Given the description of an element on the screen output the (x, y) to click on. 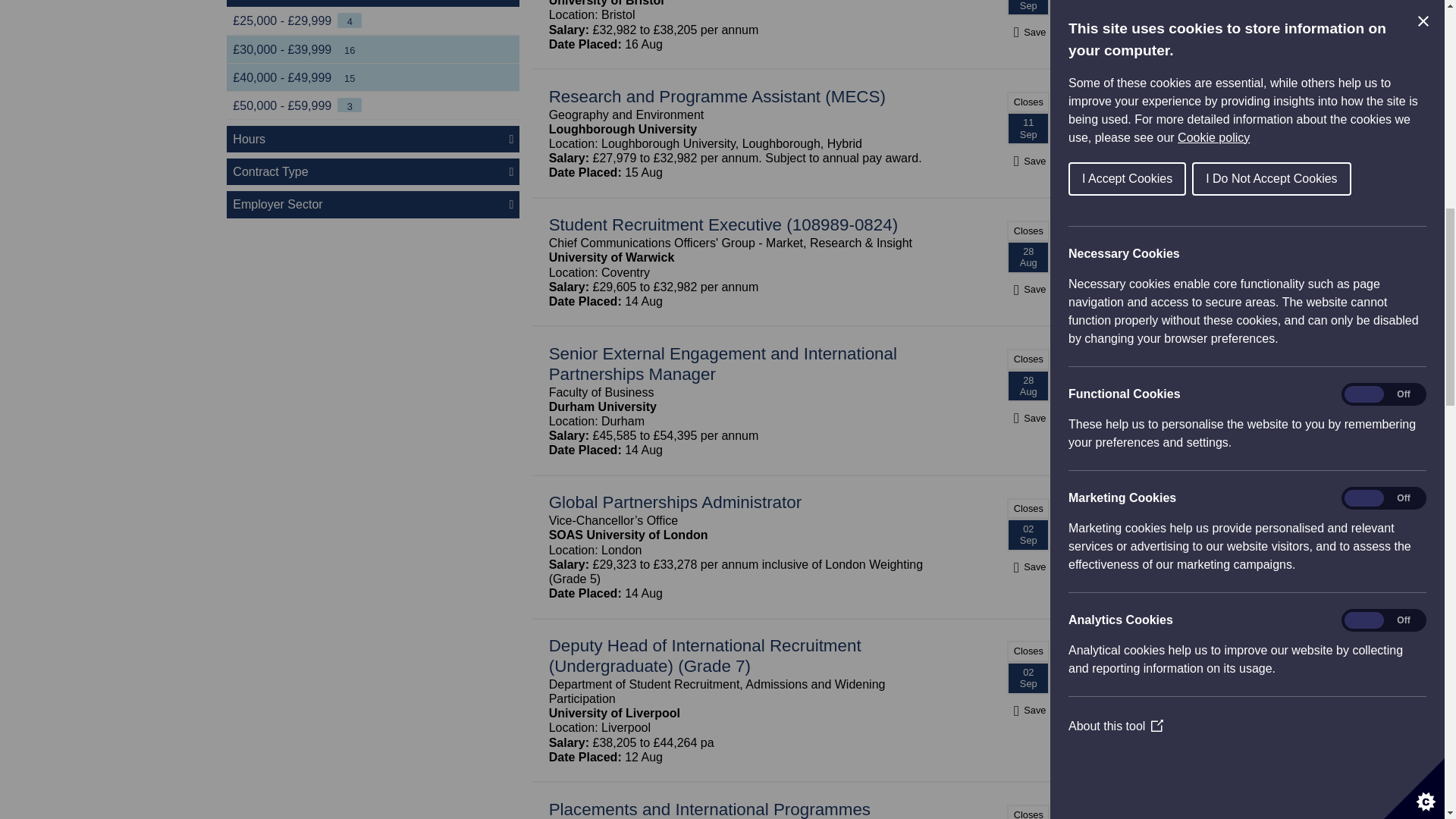
Save job (1027, 566)
Save job (1027, 288)
Save job (1027, 709)
Save job (1027, 161)
Save job (1027, 417)
Save job (1027, 32)
